Given the description of an element on the screen output the (x, y) to click on. 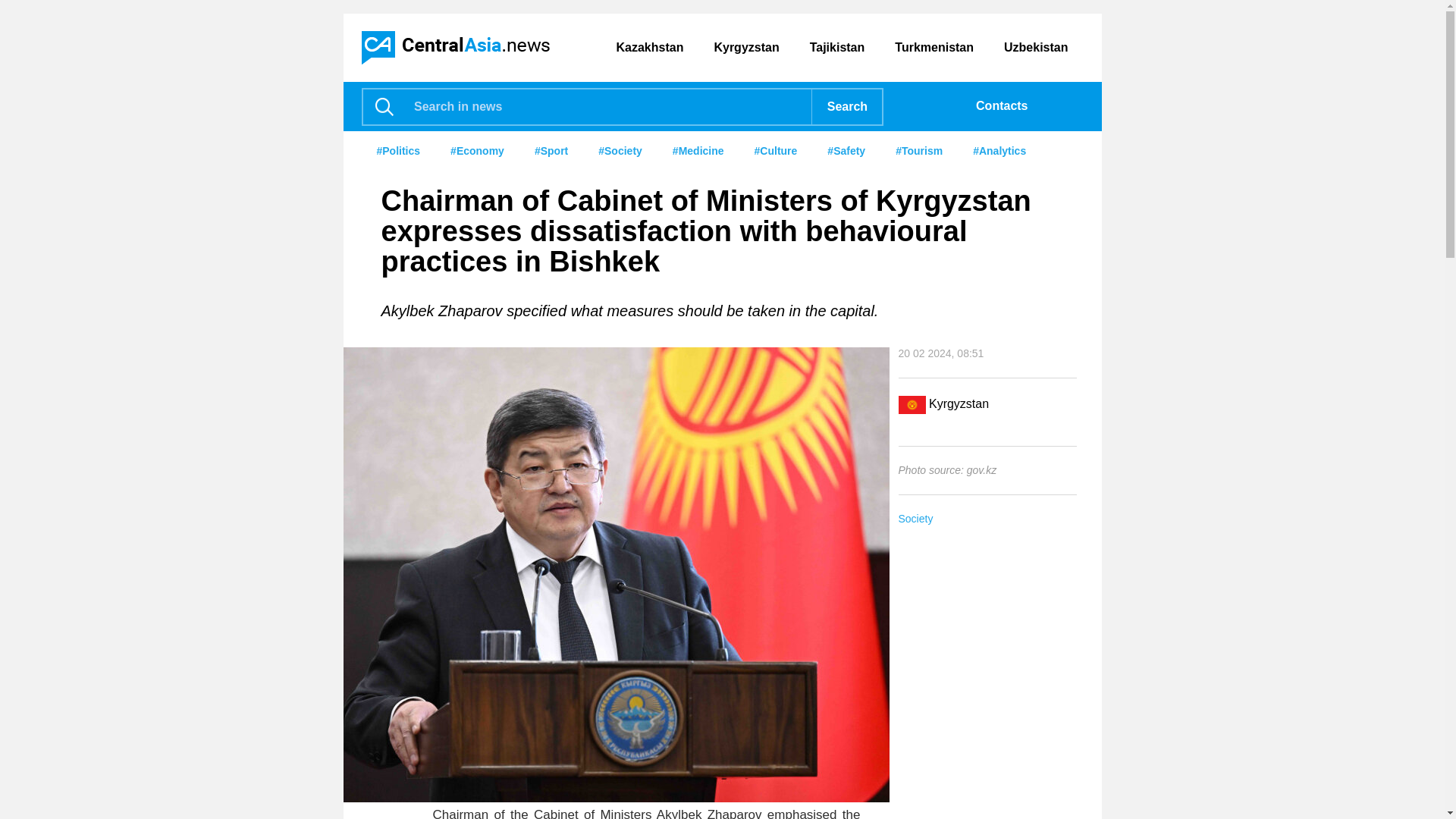
Kyrgyzstan (958, 403)
Search (846, 106)
Kazakhstan (648, 47)
Uzbekistan (1035, 47)
Contacts (997, 105)
Kyrgyzstan (745, 47)
Society (986, 518)
Turkmenistan (934, 47)
